Given the description of an element on the screen output the (x, y) to click on. 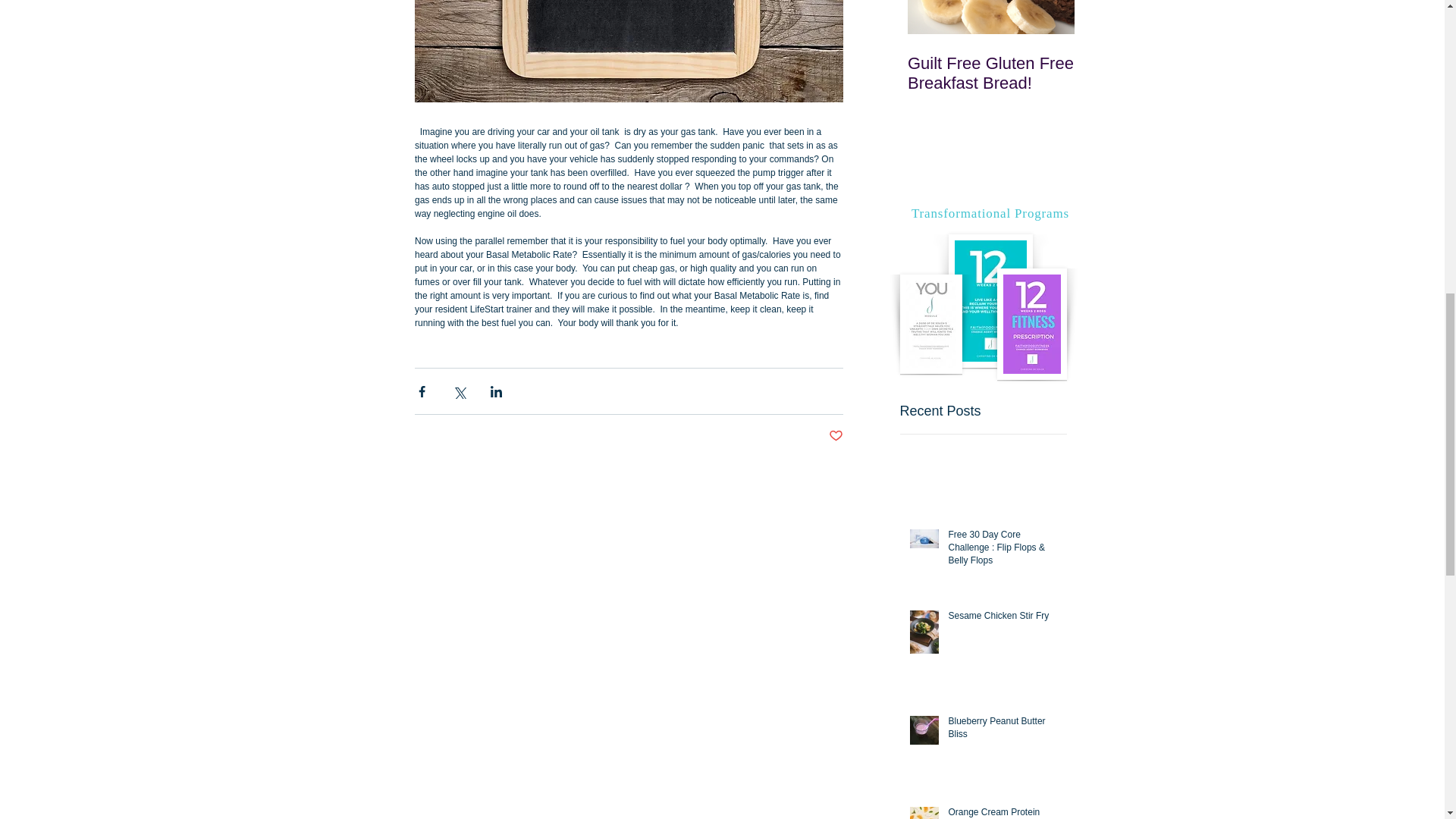
Quick Superfood Haystacks (1157, 73)
Guilt Free Gluten Free Breakfast Bread! (990, 73)
Blueberry Peanut Butter Bliss (1002, 730)
Sesame Chicken Stir Fry (1002, 618)
Orange Cream Protein Shake (1002, 812)
Post not marked as liked (835, 436)
